Given the description of an element on the screen output the (x, y) to click on. 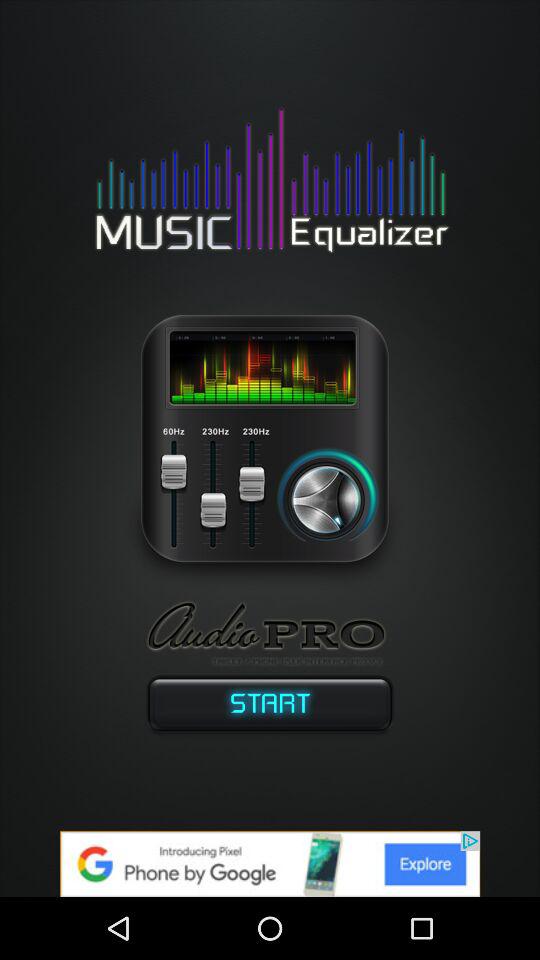
go to start (270, 707)
